Given the description of an element on the screen output the (x, y) to click on. 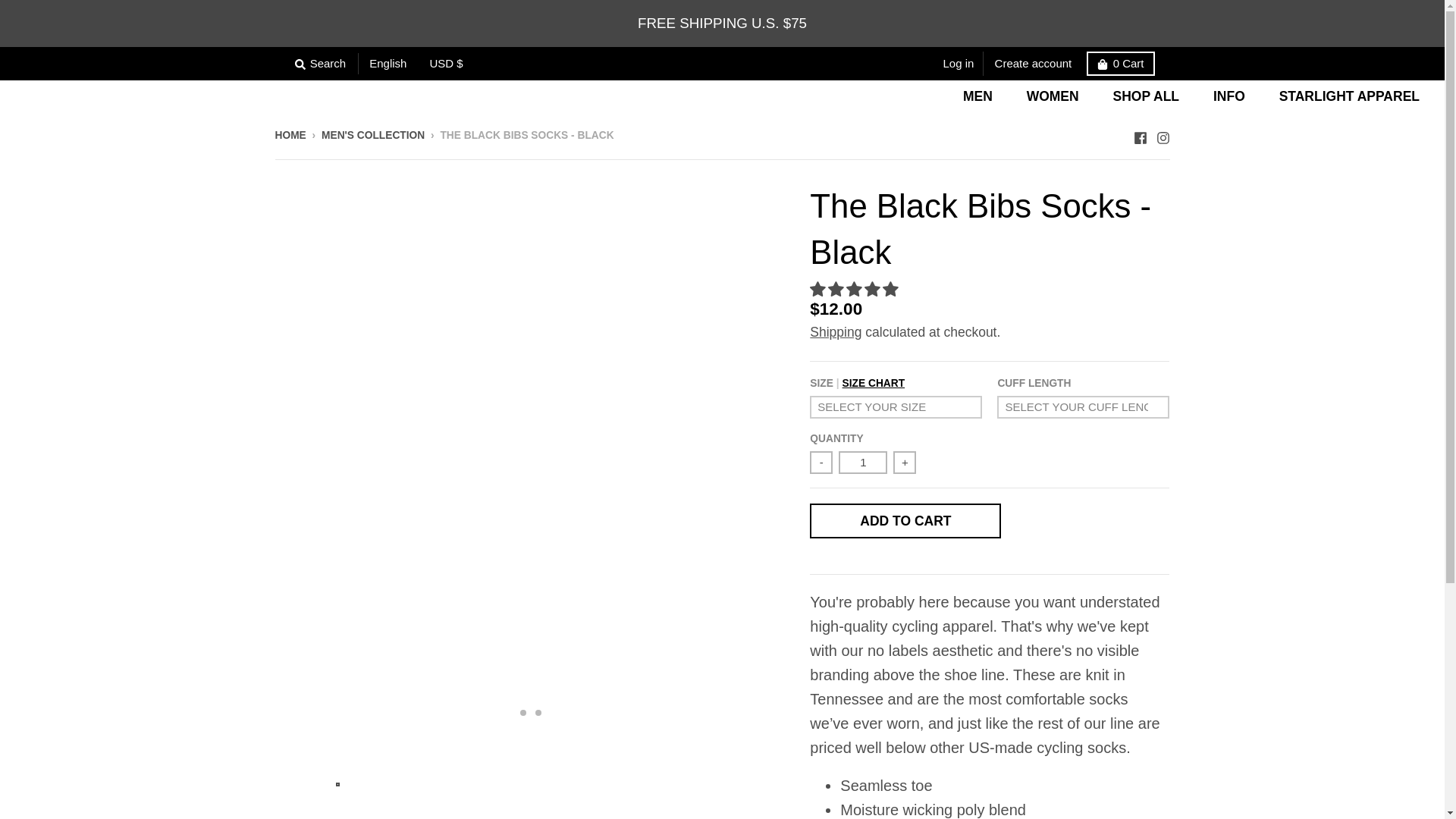
Instagram - The Black Bibs (1162, 133)
Facebook - The Black Bibs (1139, 133)
English (392, 63)
Search (319, 63)
1 (862, 462)
Back to the frontpage (290, 134)
